Given the description of an element on the screen output the (x, y) to click on. 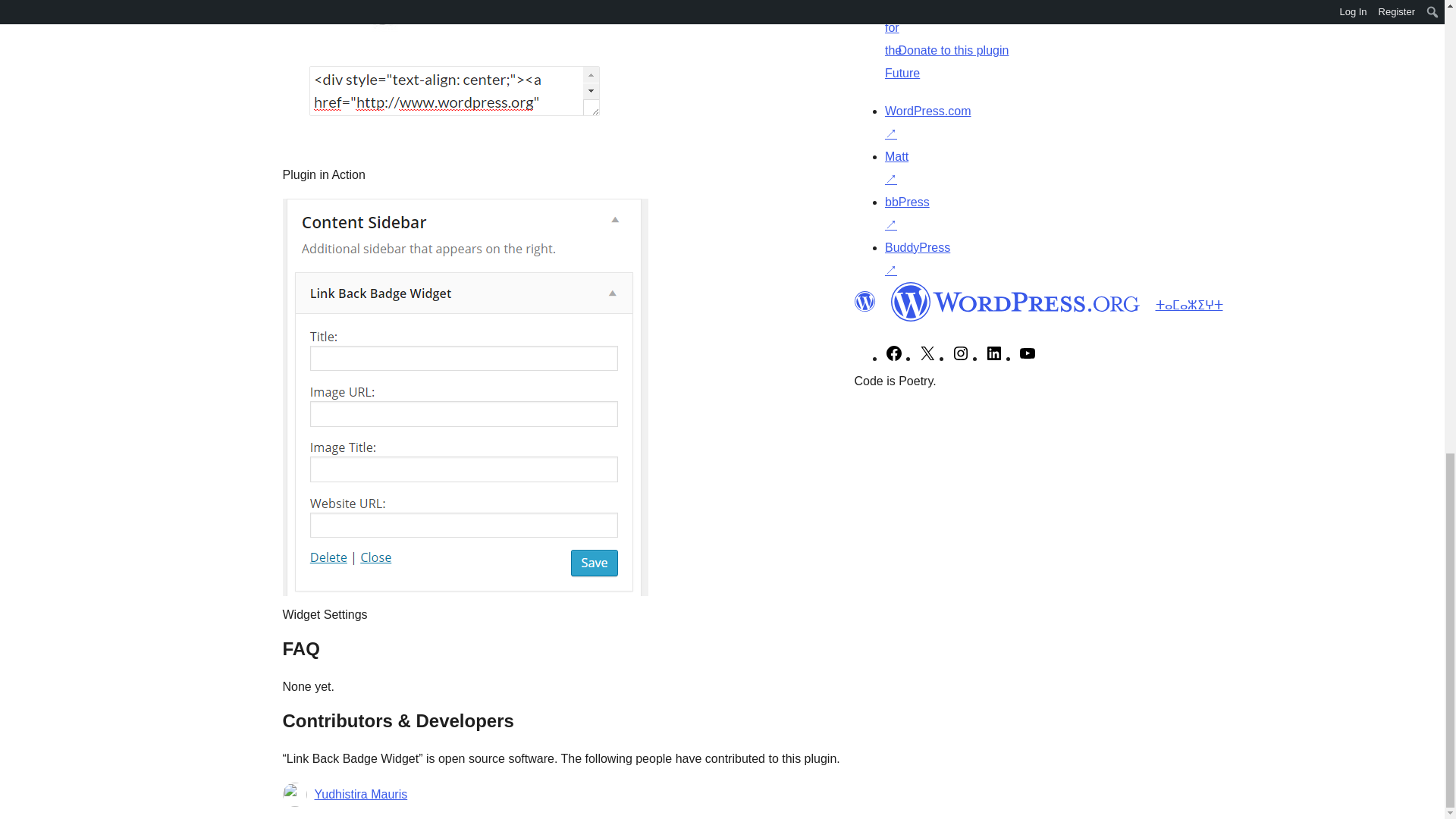
WordPress.org (864, 301)
WordPress.org (1014, 301)
Yudhistira Mauris (360, 793)
